Given the description of an element on the screen output the (x, y) to click on. 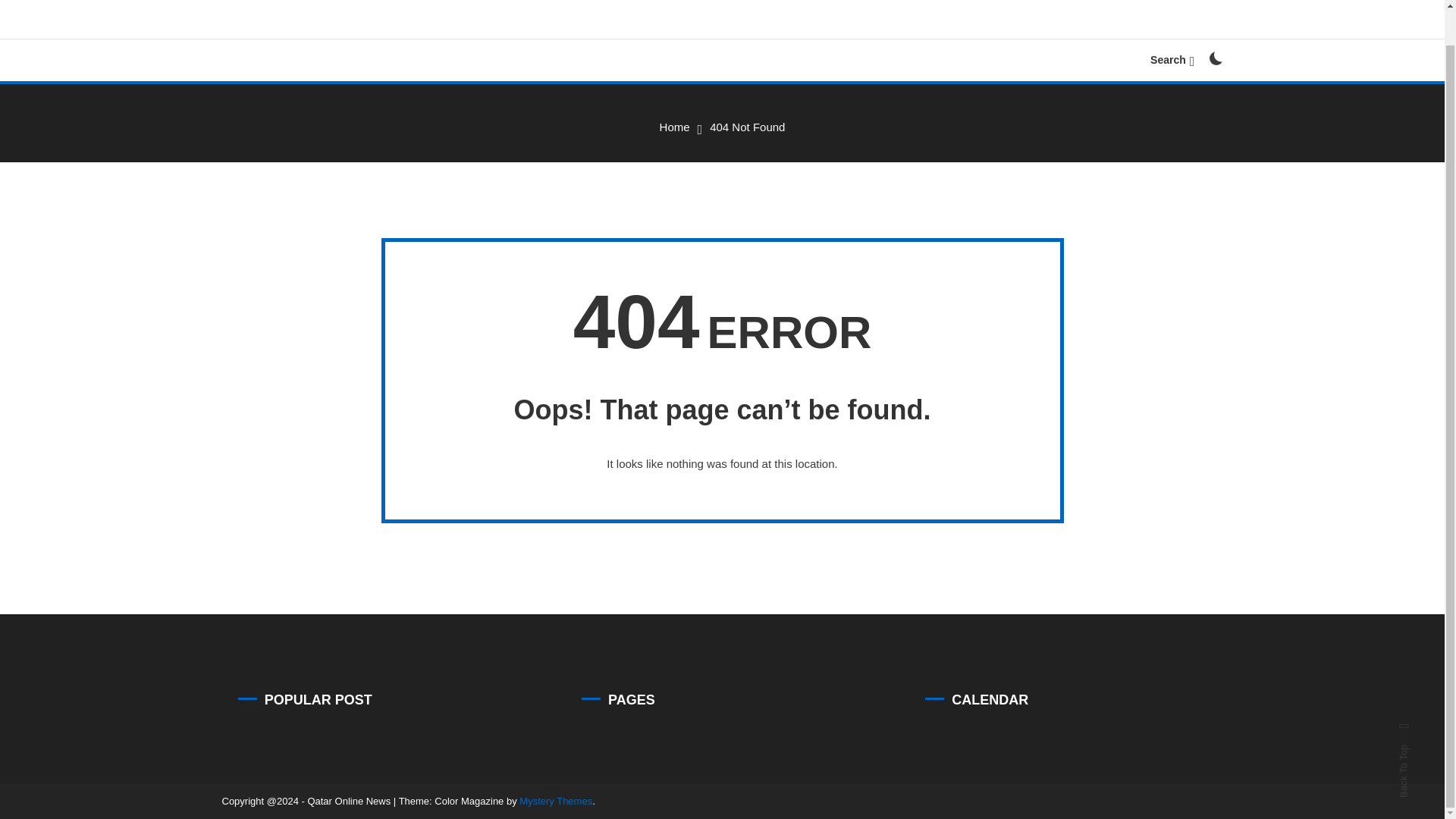
Qatar Online News (342, 35)
on (1215, 58)
Home (674, 126)
Search (1171, 60)
Mystery Themes (555, 800)
Search (768, 398)
